Given the description of an element on the screen output the (x, y) to click on. 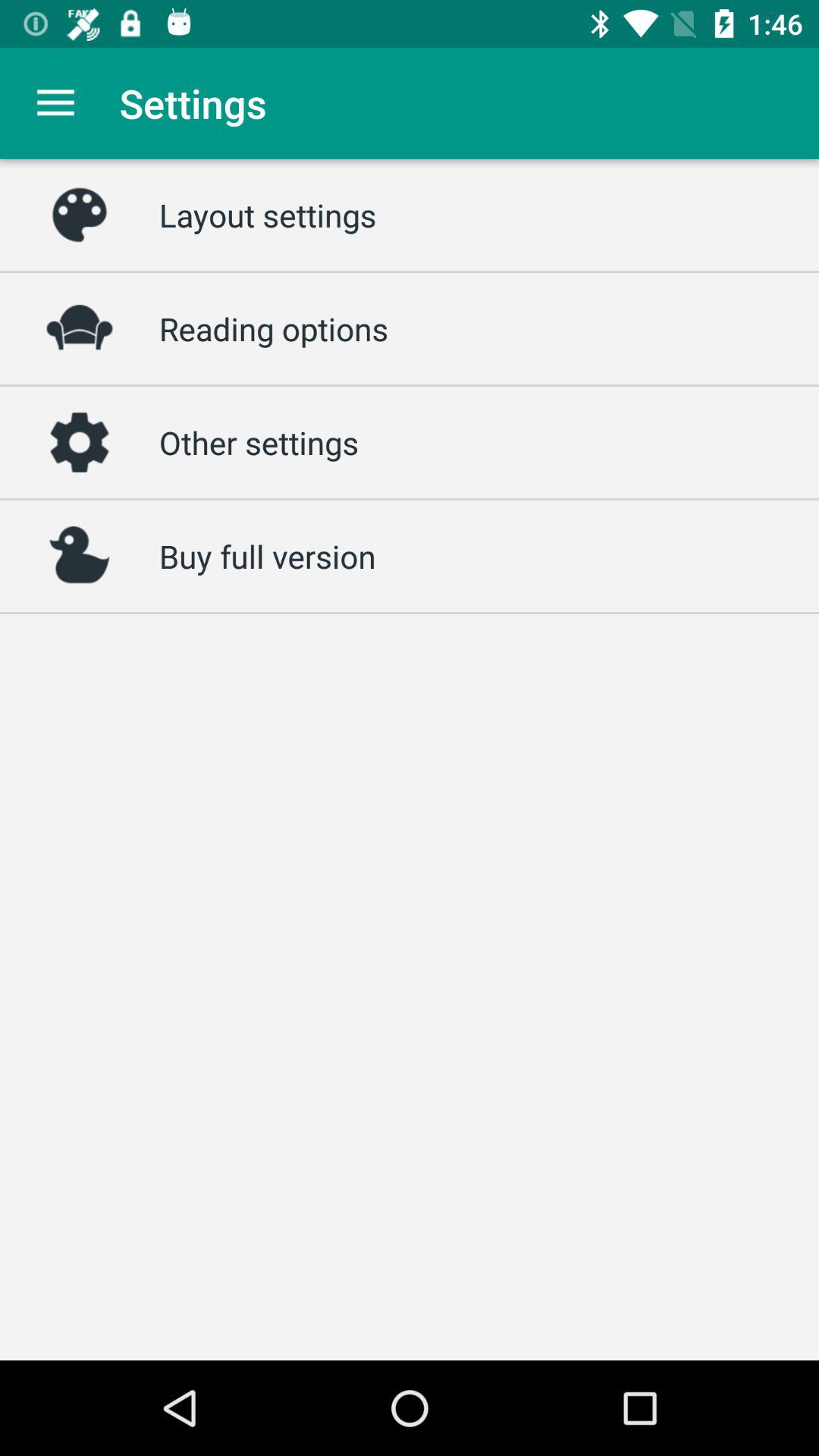
turn on the reading options (273, 328)
